Given the description of an element on the screen output the (x, y) to click on. 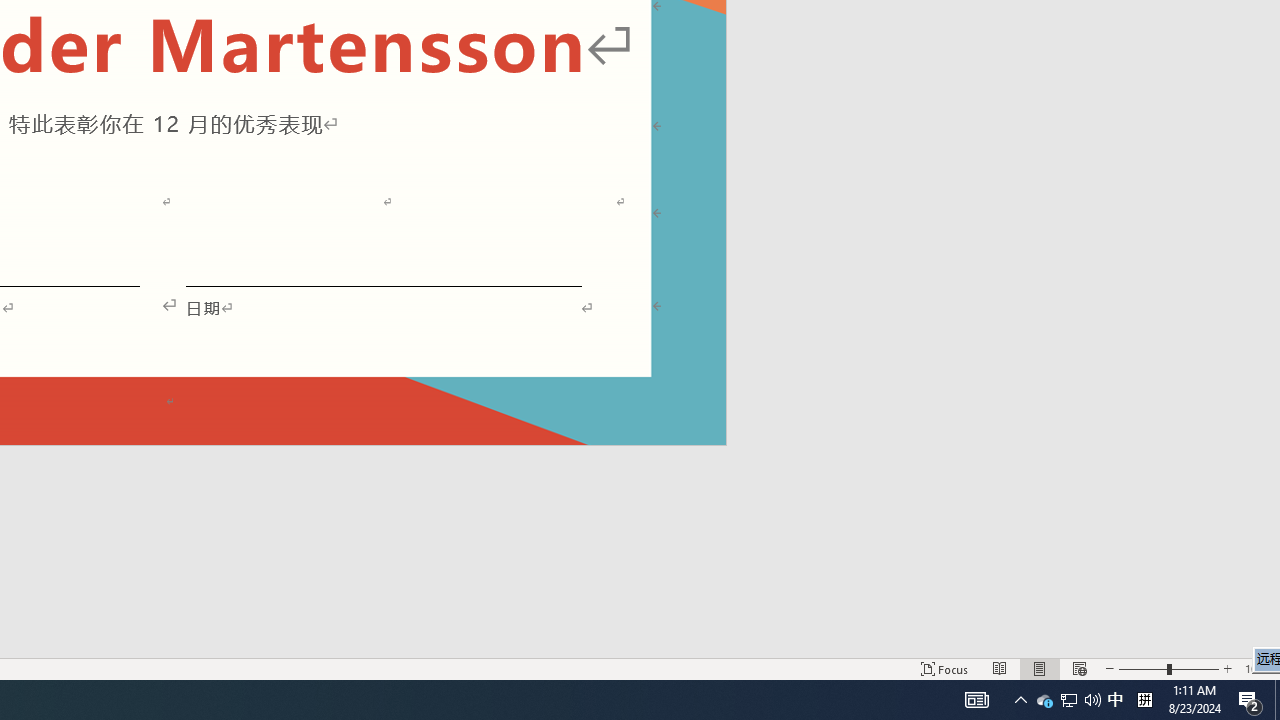
Zoom 100% (1258, 668)
